Given the description of an element on the screen output the (x, y) to click on. 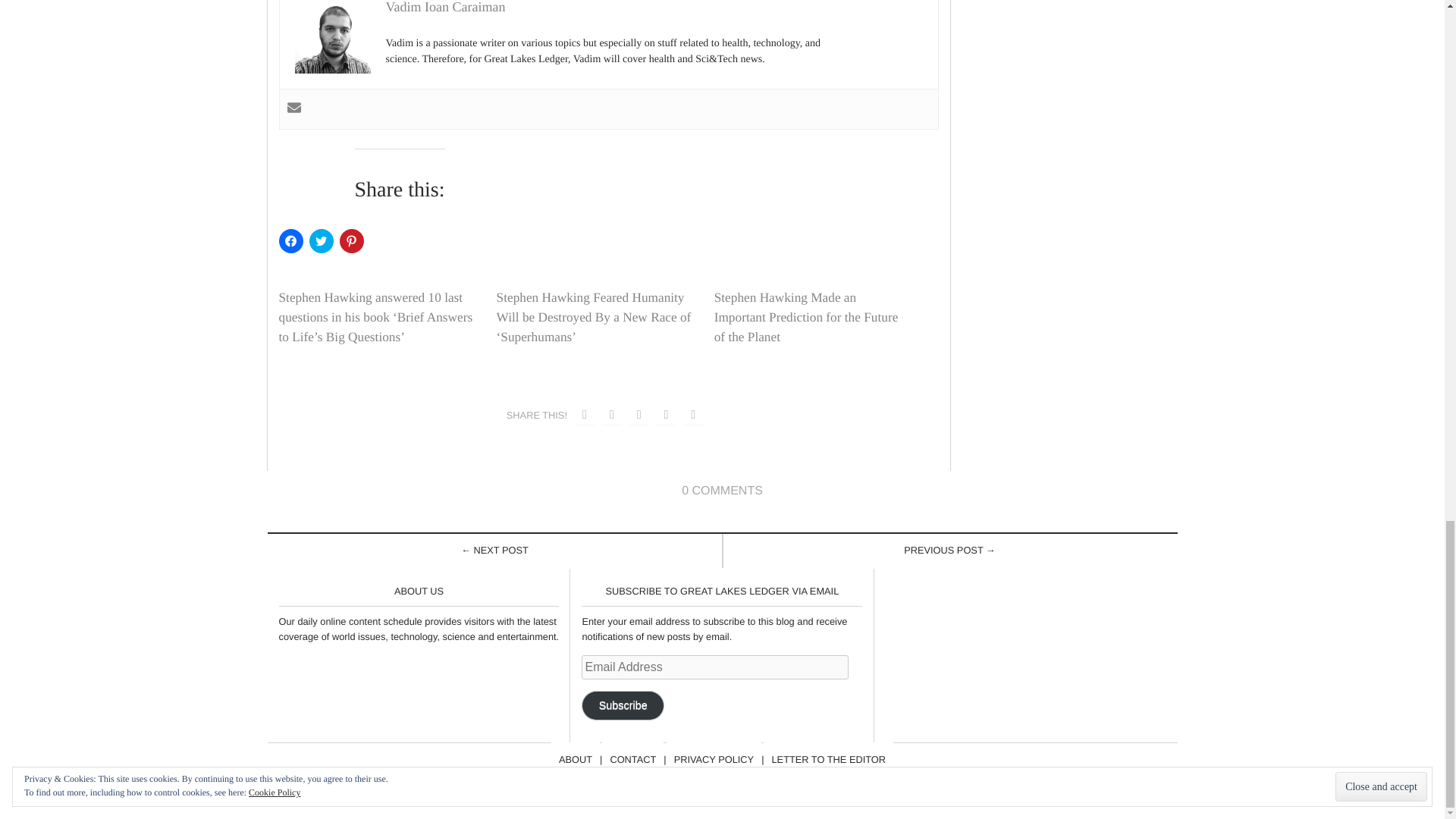
Vadim Ioan Caraiman (445, 7)
Click to share on Pinterest (351, 241)
Share on Facebook. (584, 415)
Share on LinkedIn (665, 415)
Share on LinkedIn (692, 415)
0 COMMENTS (722, 491)
Click to share on Twitter (320, 241)
Click to share on Facebook (290, 241)
Tweet this! (611, 415)
